Given the description of an element on the screen output the (x, y) to click on. 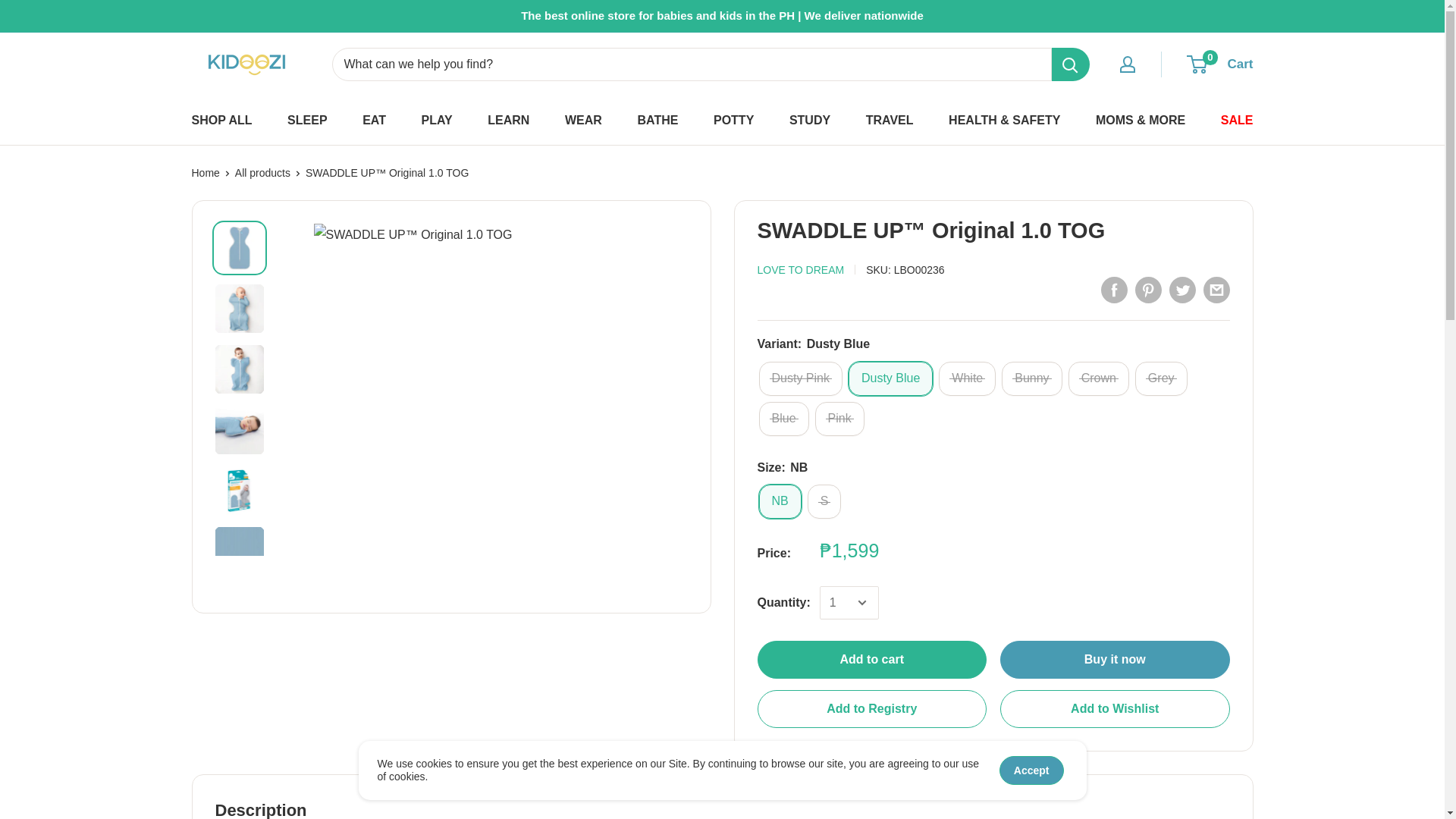
Bunny (1031, 378)
Dusty Blue (890, 378)
Add to Registry (872, 709)
Blue (783, 418)
Crown (1098, 378)
Grey (1161, 378)
NB (779, 501)
Pink (839, 418)
Dusty Pink (799, 378)
Add to Wishlist (1115, 709)
S (824, 501)
White (967, 378)
